Given the description of an element on the screen output the (x, y) to click on. 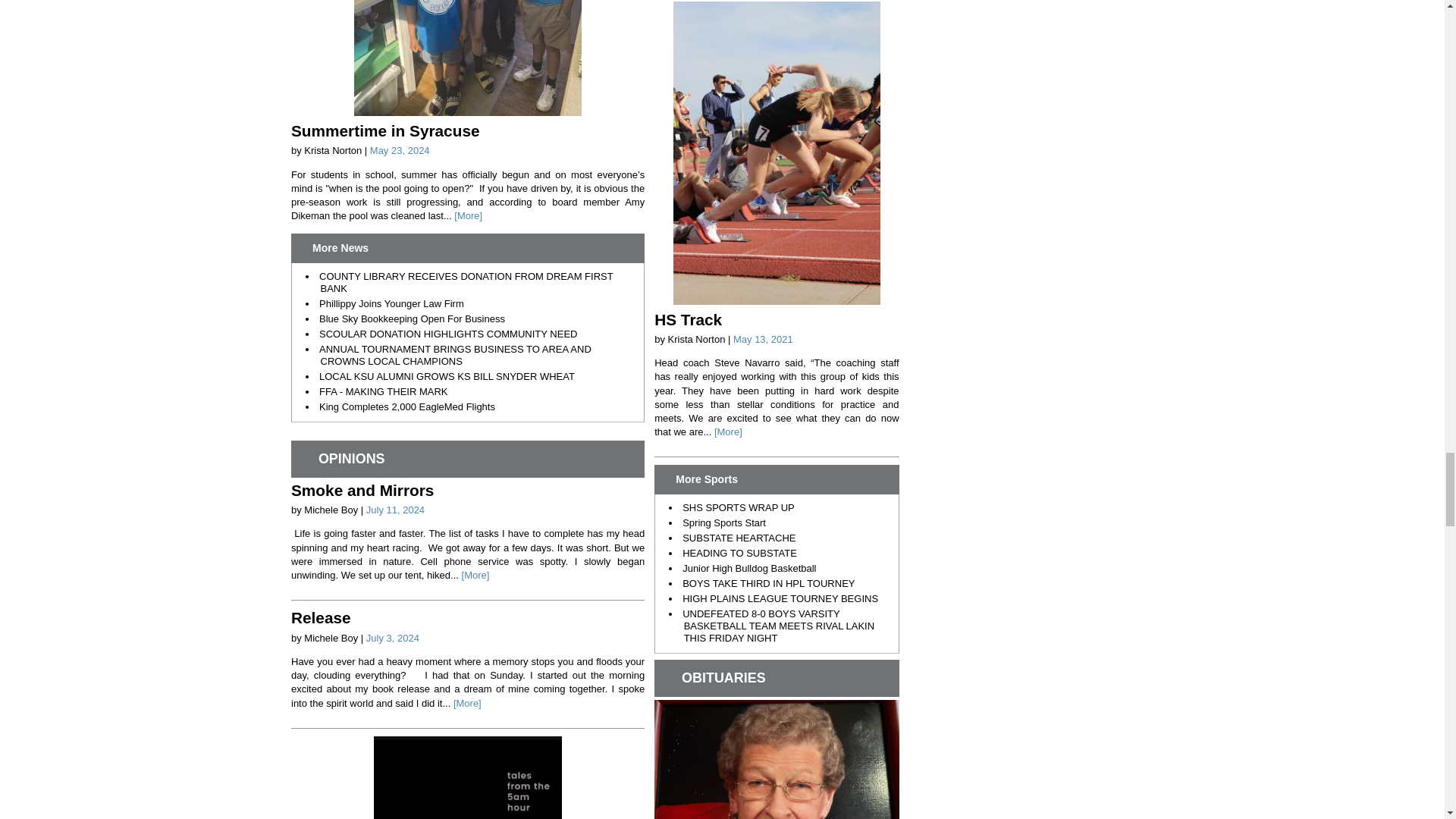
COUNTY LIBRARY RECEIVES DONATION FROM DREAM FIRST BANK (465, 282)
Summertime in Syracuse (385, 130)
